Given the description of an element on the screen output the (x, y) to click on. 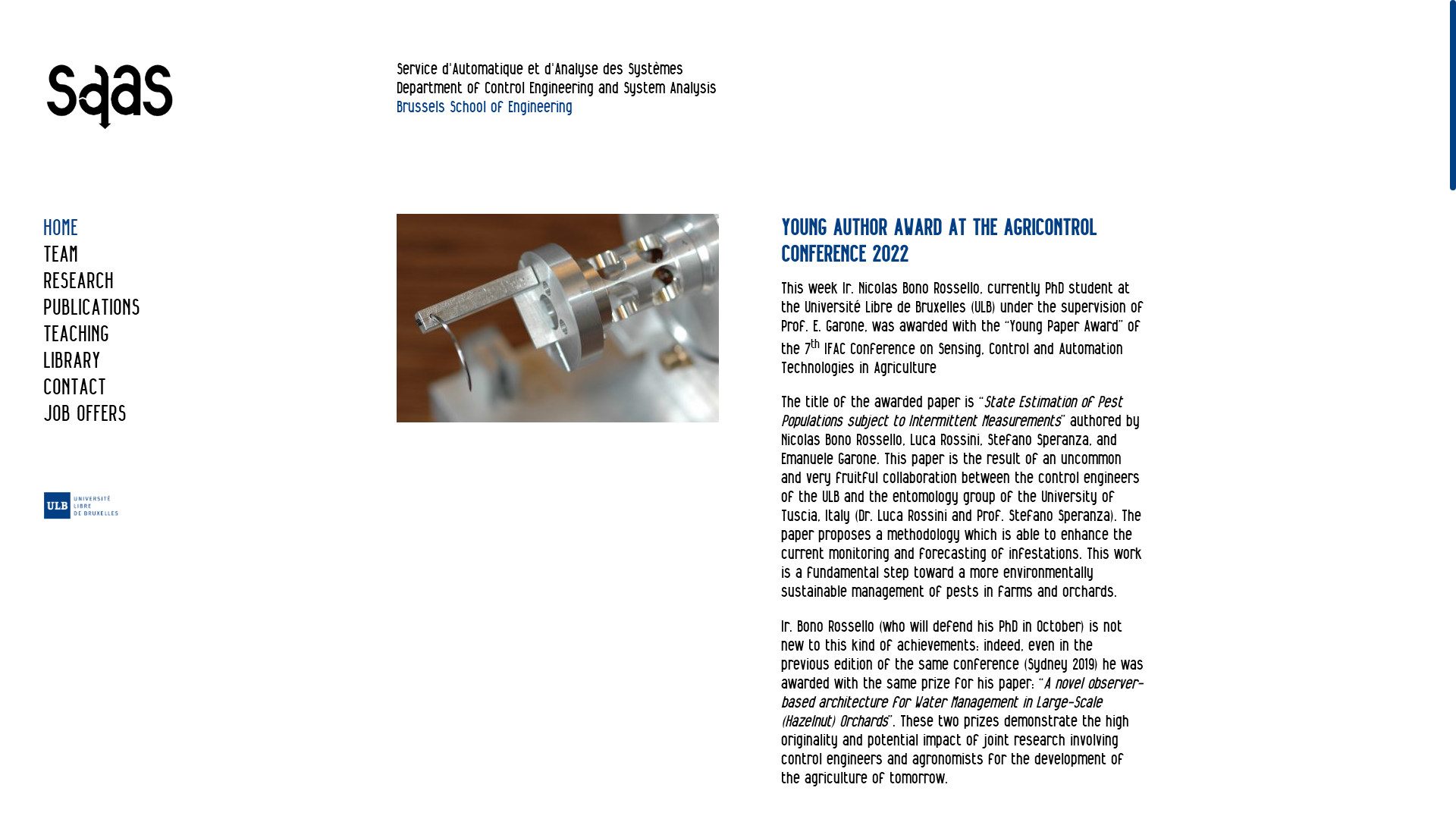
LIBRARY Element type: text (71, 359)
CONTACT Element type: text (74, 386)
PUBLICATIONS Element type: text (91, 306)
HOME Element type: text (60, 226)
Department of Control Engineering and System Analysis Element type: text (556, 87)
Prof. E. Garone Element type: text (822, 325)
JOB OFFERS Element type: text (84, 412)
Ir. Nicolas Bono Rossello Element type: text (910, 287)
TEAM Element type: text (60, 253)
Brussels School of Engineering Element type: text (484, 106)
